Given the description of an element on the screen output the (x, y) to click on. 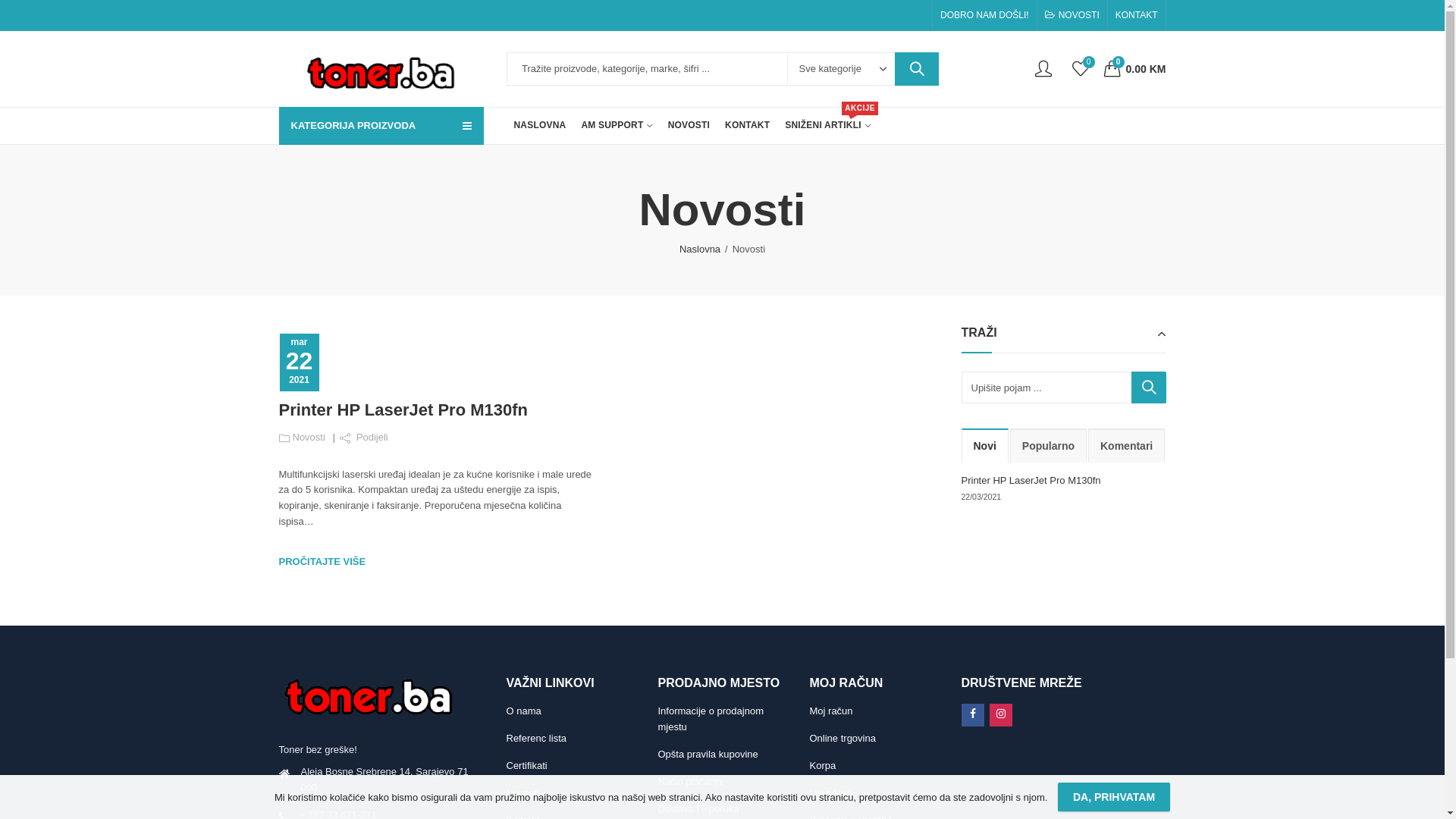
0
0.00 KM Element type: text (1135, 68)
AM SUPPORT Element type: text (616, 125)
KONTAKT Element type: text (1132, 15)
NOVOSTI Element type: text (1075, 15)
Printer HP LaserJet Pro M130fn Element type: text (403, 409)
Popularno Element type: text (1048, 445)
NASLOVNA Element type: text (540, 125)
Novi Element type: text (984, 445)
Komentari Element type: text (1126, 445)
Printer HP LaserJet Pro M130fn Element type: text (1031, 480)
Naslovna Element type: text (699, 249)
Dostava i isporuka Element type: text (698, 808)
0 Element type: text (1080, 67)
Korpa Element type: text (822, 765)
Online trgovina Element type: text (842, 737)
KONTAKT Element type: text (747, 125)
O nama Element type: text (523, 710)
Referenc lista Element type: text (536, 737)
Informacije o prodajnom mjestu Element type: text (710, 718)
NOVOSTI Element type: text (688, 125)
Novosti Element type: text (522, 792)
Novosti Element type: text (308, 436)
DA, PRIHVATAM Element type: text (1113, 796)
Certifikati Element type: text (526, 765)
